Given the description of an element on the screen output the (x, y) to click on. 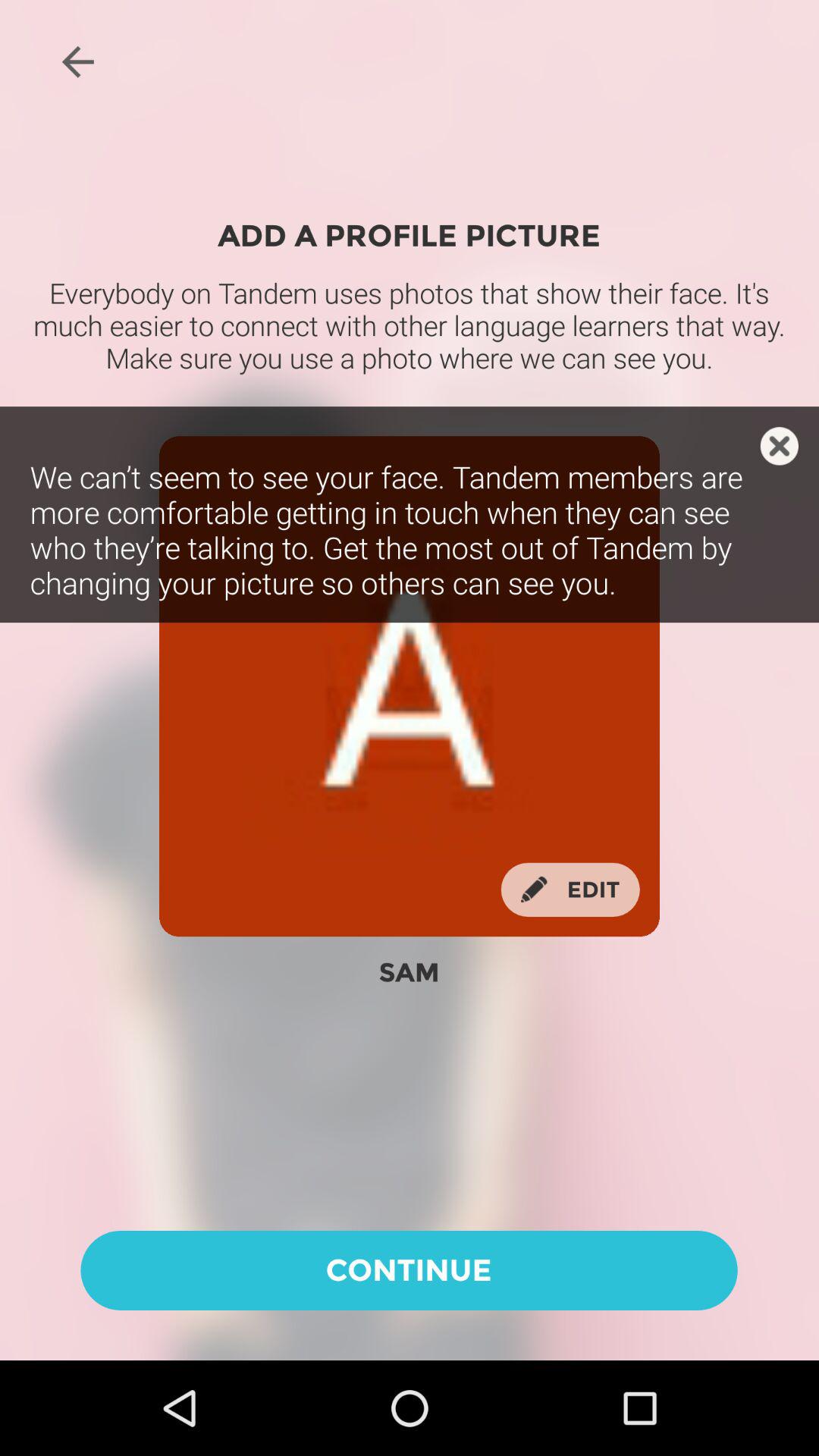
click the icon below everybody on tandem icon (779, 445)
